Given the description of an element on the screen output the (x, y) to click on. 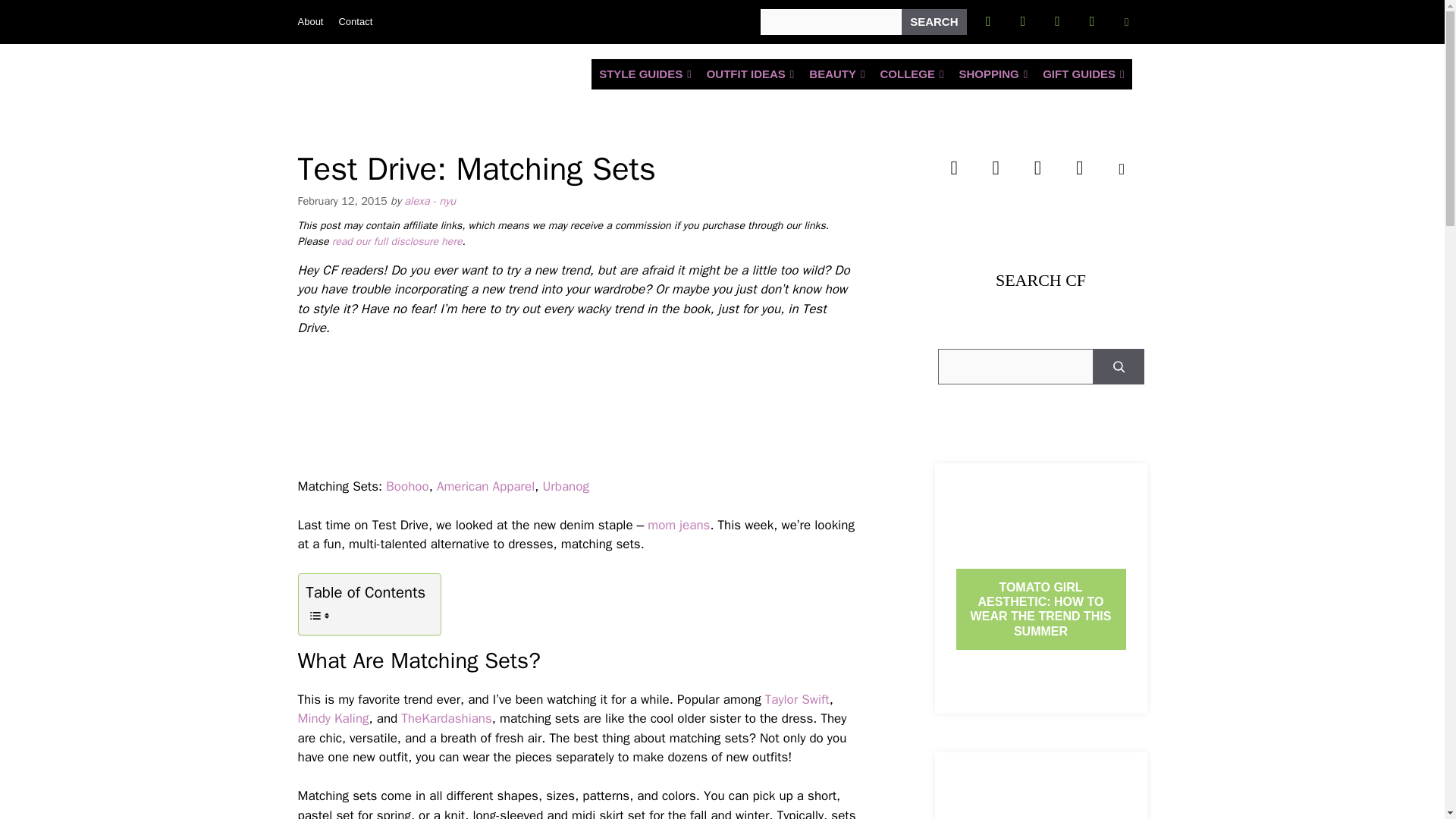
Search for: (830, 22)
Pinterest (1091, 21)
Twitter (1022, 21)
Facebook (988, 21)
Contact (354, 21)
Facebook (954, 167)
About (310, 21)
STYLE GUIDES (644, 73)
View all posts by Alexa - NYU (429, 201)
OUTFIT IDEAS (750, 73)
